Given the description of an element on the screen output the (x, y) to click on. 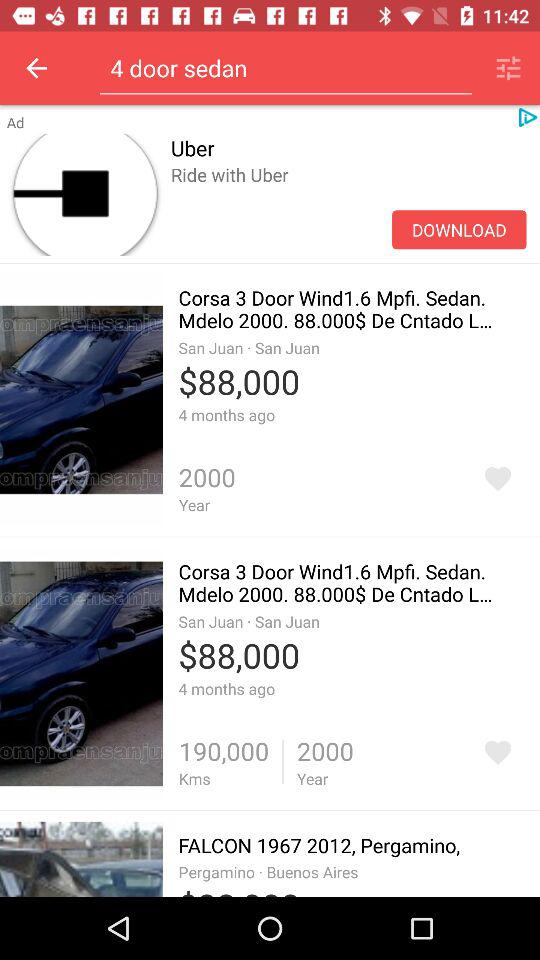
press download item (459, 229)
